Given the description of an element on the screen output the (x, y) to click on. 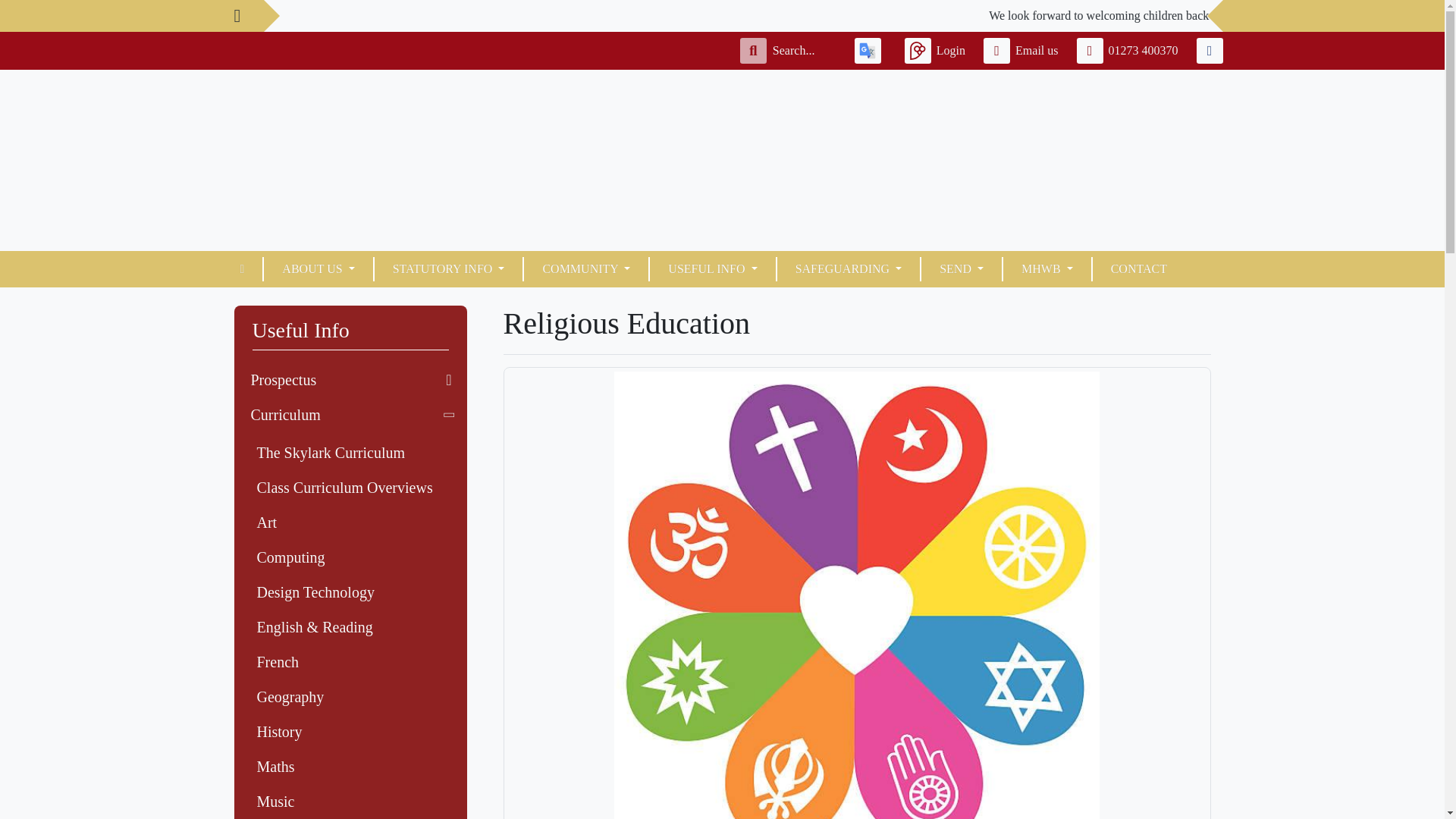
Login (937, 50)
Email us (1024, 50)
01273 400370 (1131, 50)
